Given the description of an element on the screen output the (x, y) to click on. 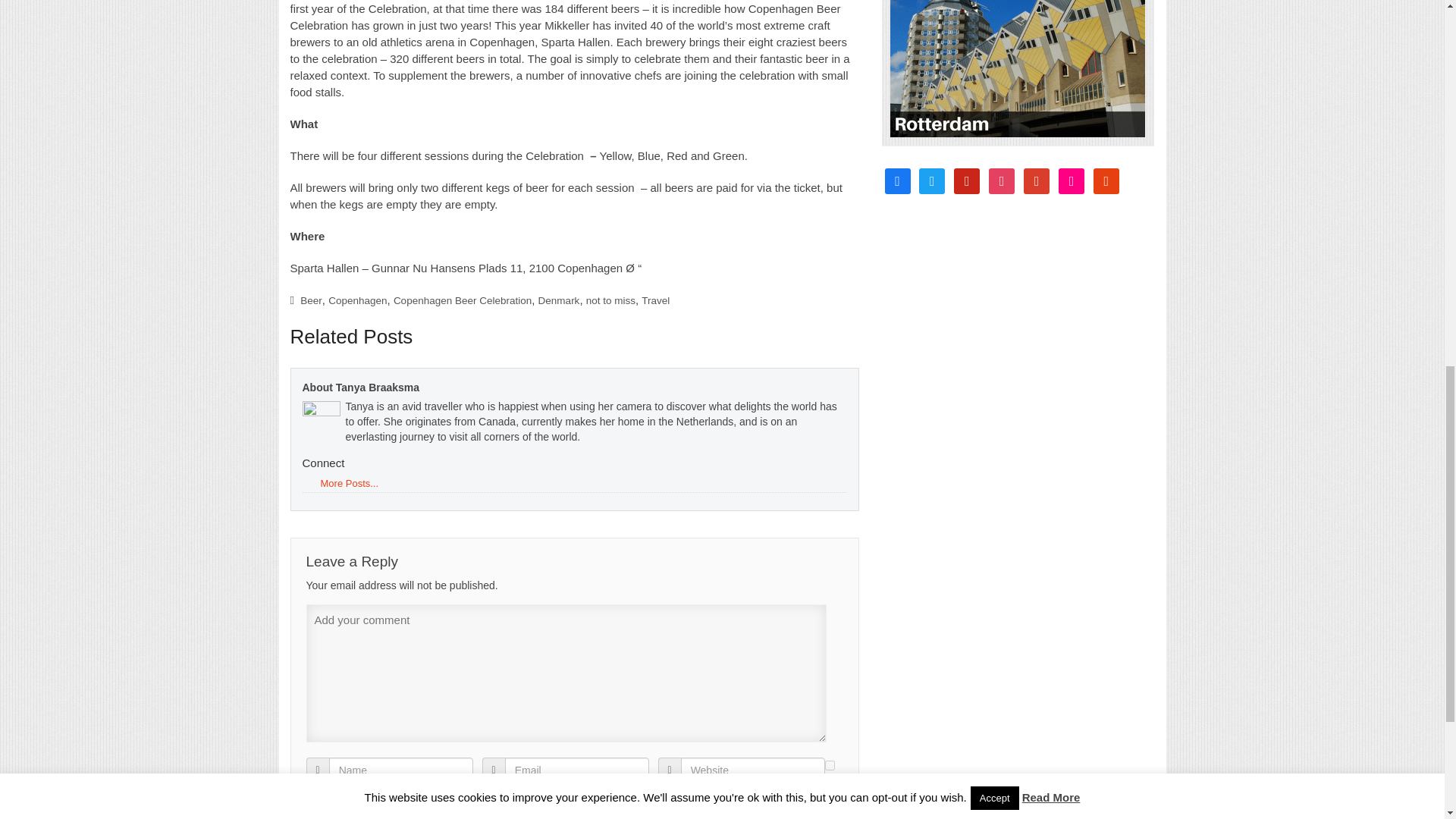
yes (829, 765)
Friend me on Facebook (896, 180)
Follow Me (931, 180)
